Given the description of an element on the screen output the (x, y) to click on. 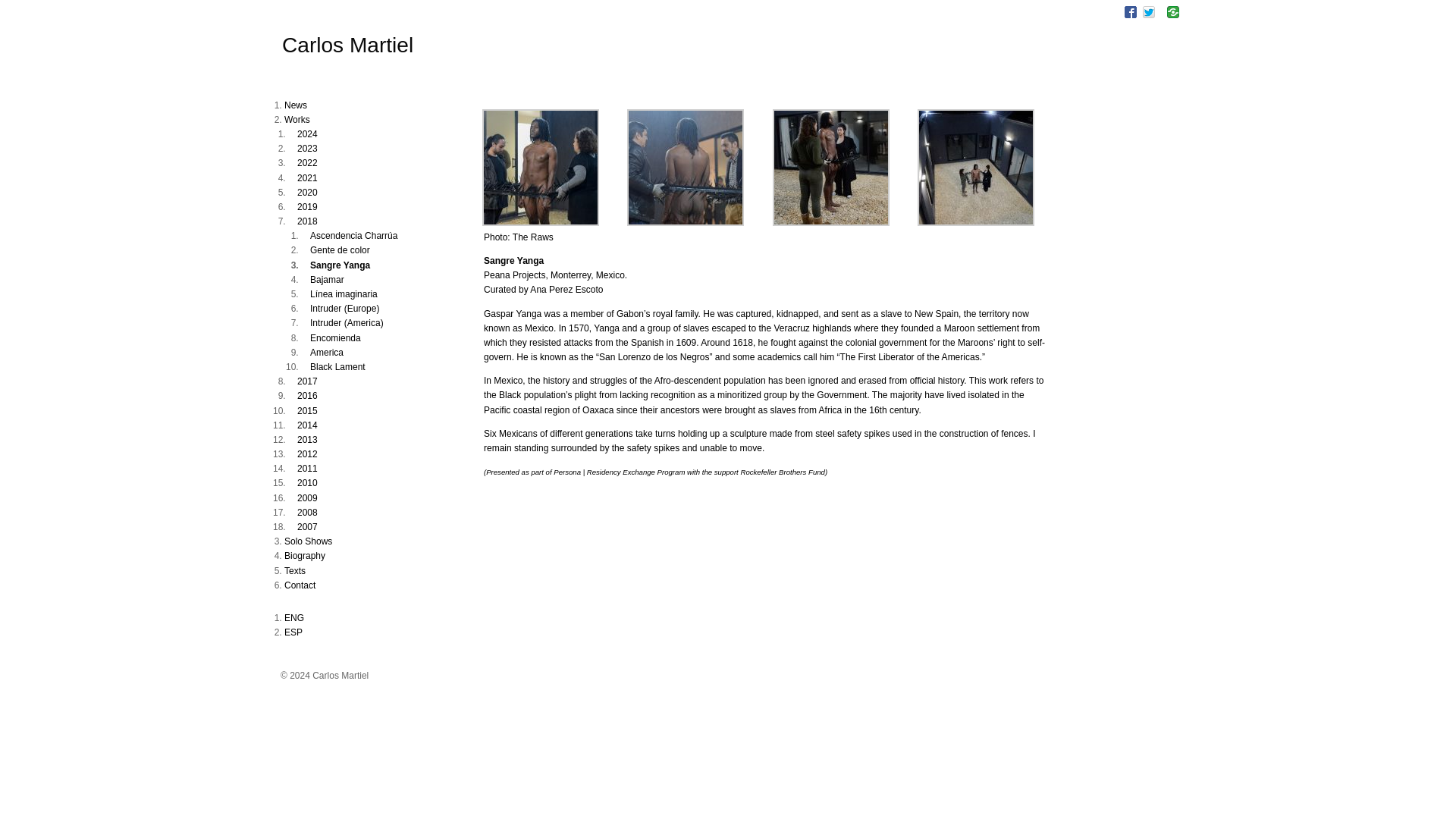
2023 (307, 148)
ESP (292, 632)
Sangre Yanga (685, 222)
Works (296, 119)
2022 (307, 163)
2021 (307, 177)
2024 (307, 133)
Sangre Yanga (539, 222)
News (295, 104)
ENG (293, 617)
Twitter (1148, 11)
Sangre Yanga (975, 222)
Sangre Yanga (831, 222)
Facebook (1130, 11)
Carlos Martiel (347, 44)
